Given the description of an element on the screen output the (x, y) to click on. 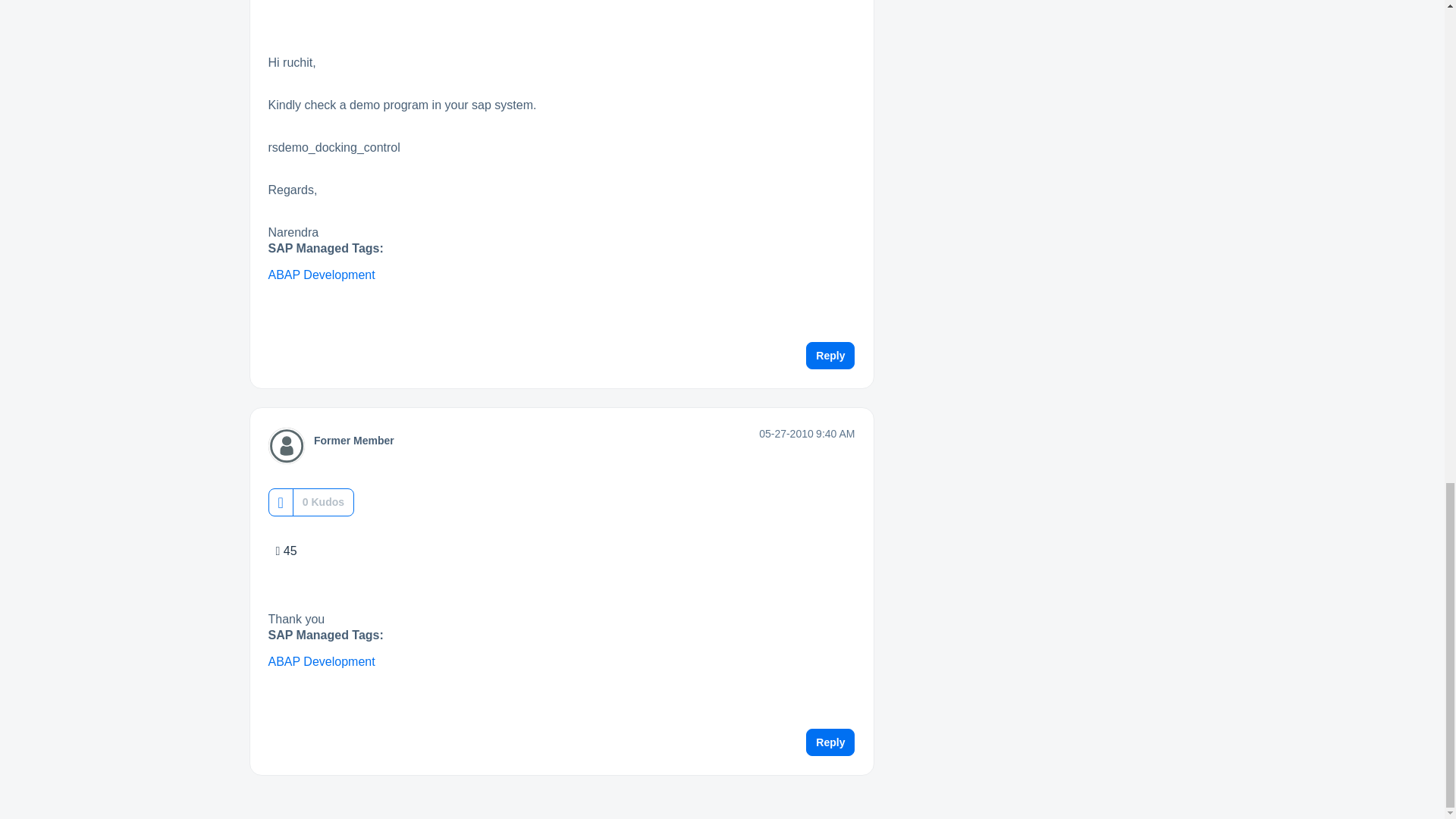
ABAP Development (321, 274)
Reply (830, 355)
